Given the description of an element on the screen output the (x, y) to click on. 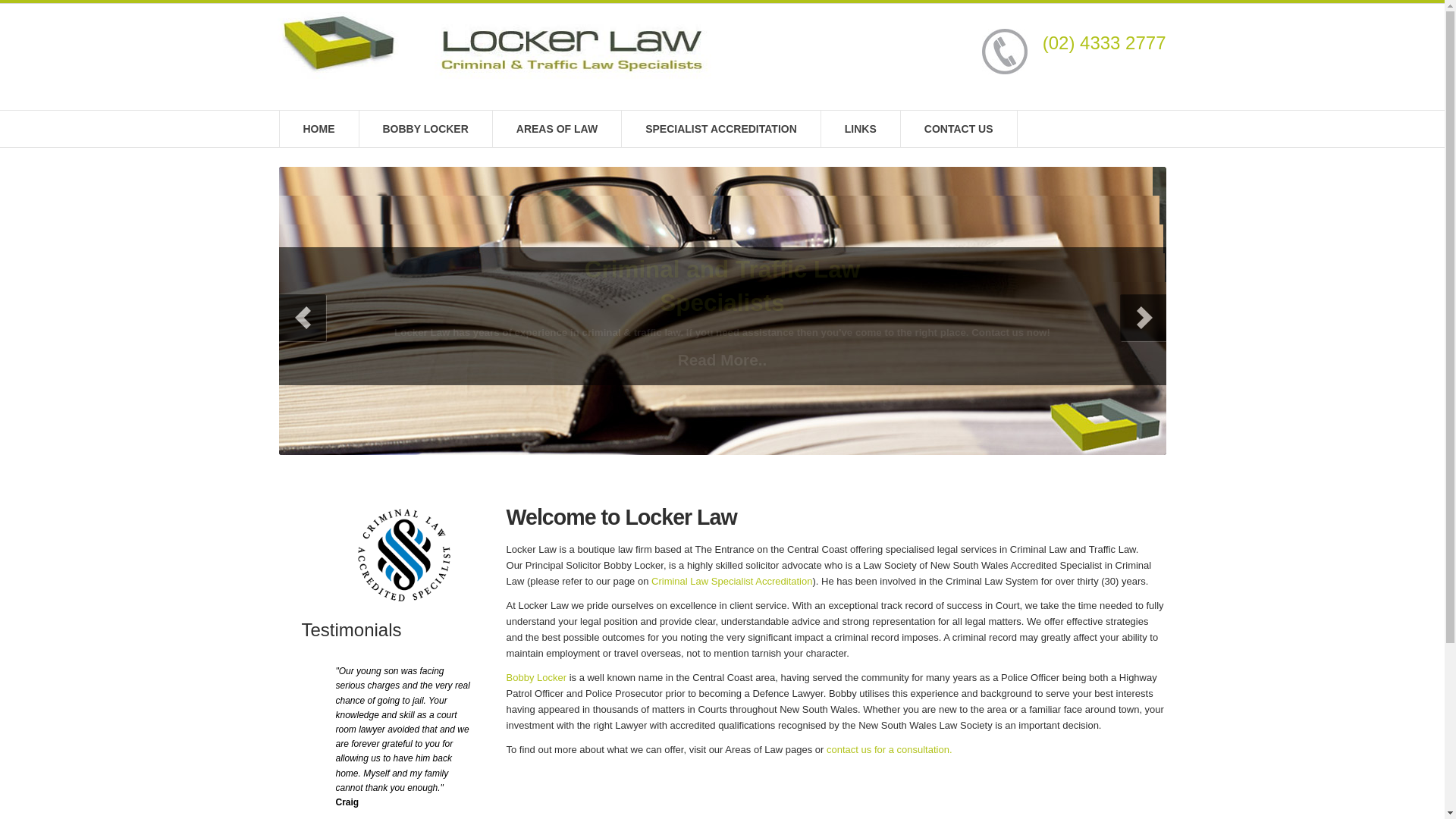
SPECIALIST ACCREDITATION Element type: text (721, 128)
Read More.. Element type: text (722, 360)
CONTACT US Element type: text (958, 128)
contact us for a consultation. Element type: text (888, 749)
HOME Element type: text (318, 128)
Bobby Locker Element type: text (536, 677)
LINKS Element type: text (860, 128)
Criminal Law Specialist Accreditation Element type: text (731, 580)
BOBBY LOCKER Element type: text (425, 128)
AREAS OF LAW Element type: text (556, 128)
